Given the description of an element on the screen output the (x, y) to click on. 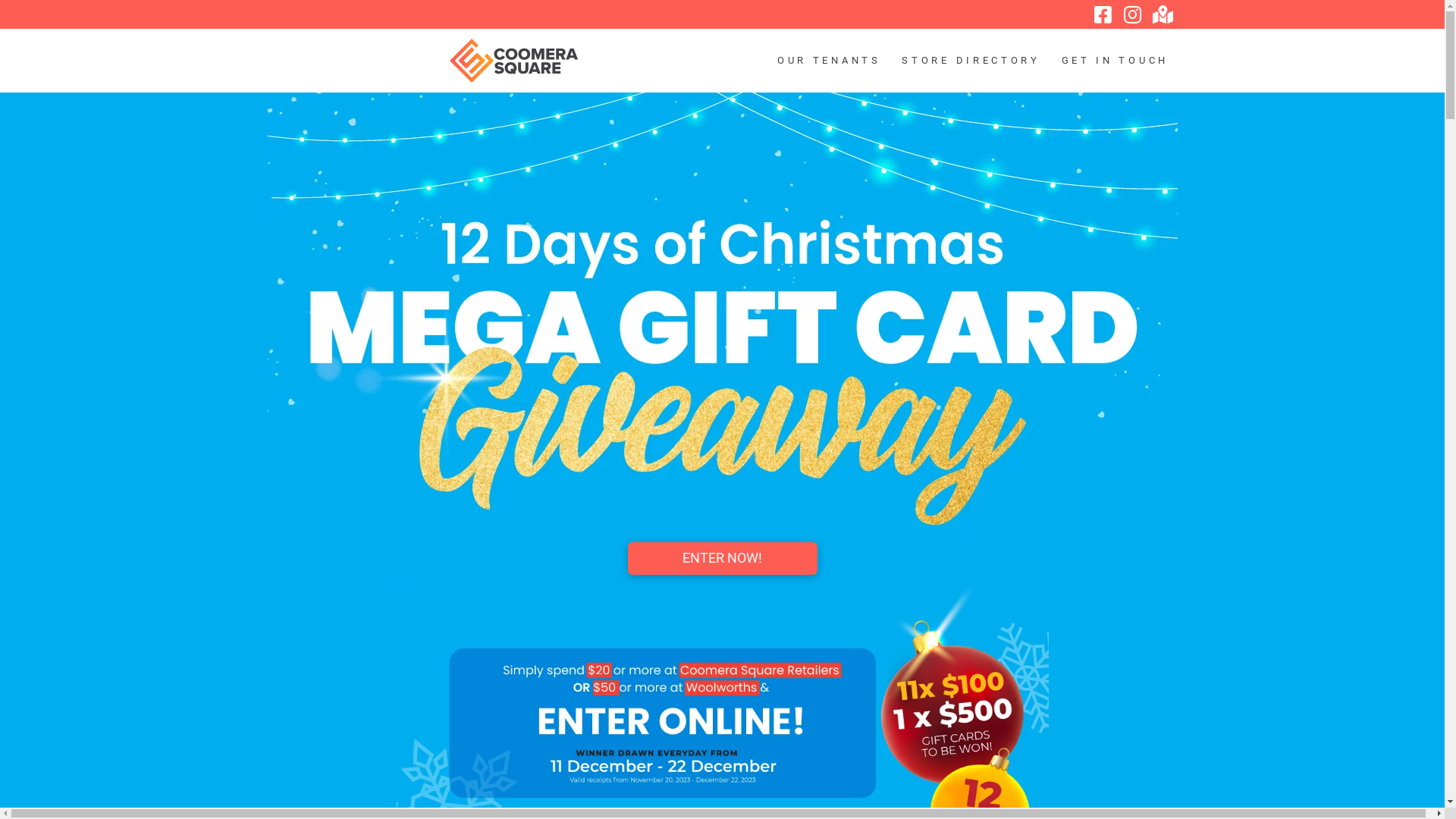
OUR TENANTS Element type: text (827, 60)
STORE DIRECTORY Element type: text (968, 60)
GET IN TOUCH Element type: text (1112, 60)
ENTER NOW! Element type: text (722, 558)
